Given the description of an element on the screen output the (x, y) to click on. 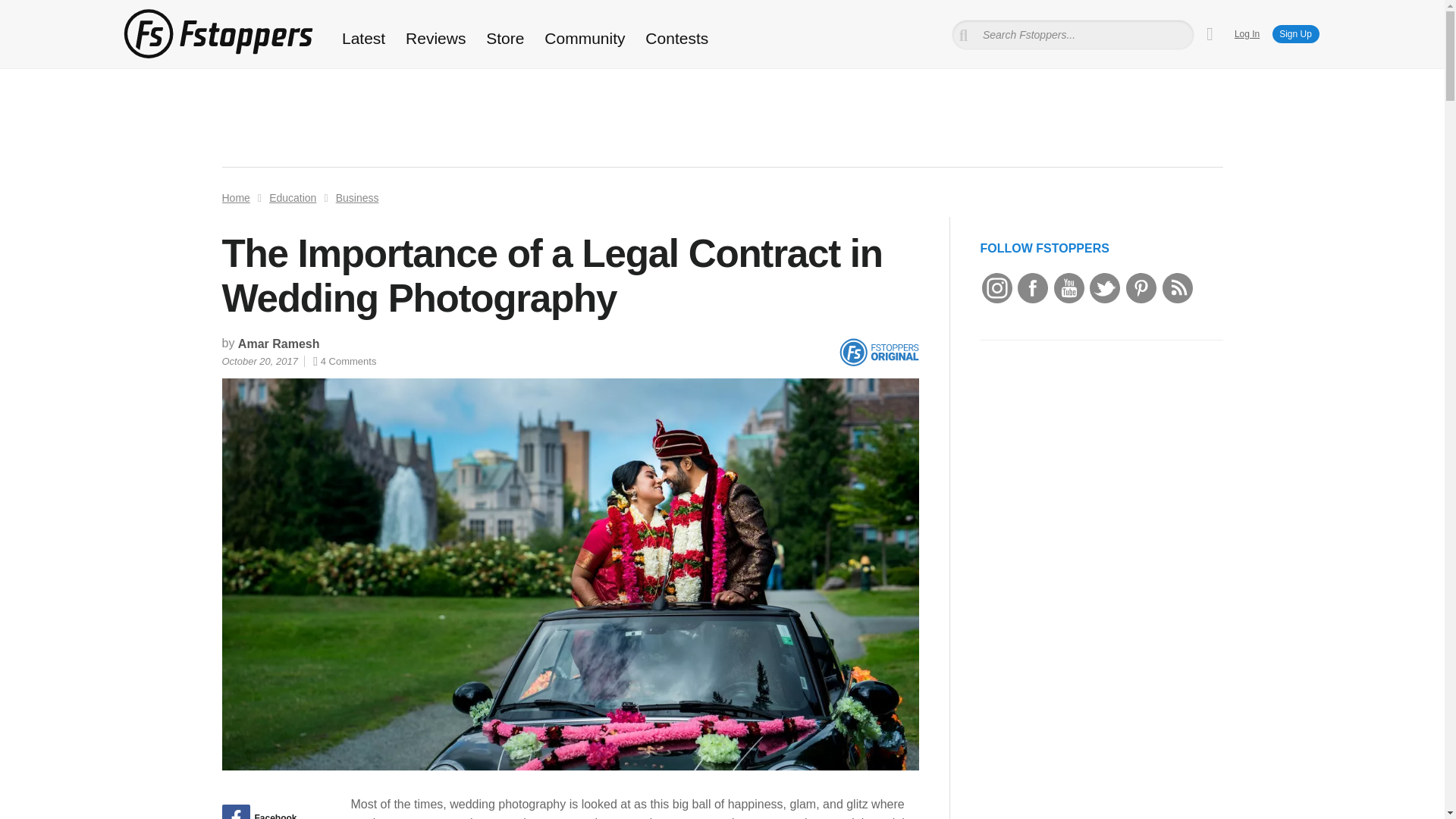
Log In (1246, 33)
Share on Facebook (270, 811)
Search (32, 11)
My Cart (1209, 34)
Reviews (435, 37)
Business (357, 197)
4 Comments (344, 360)
Education (292, 197)
Fstoppers Original Article (878, 352)
Home (234, 197)
